Given the description of an element on the screen output the (x, y) to click on. 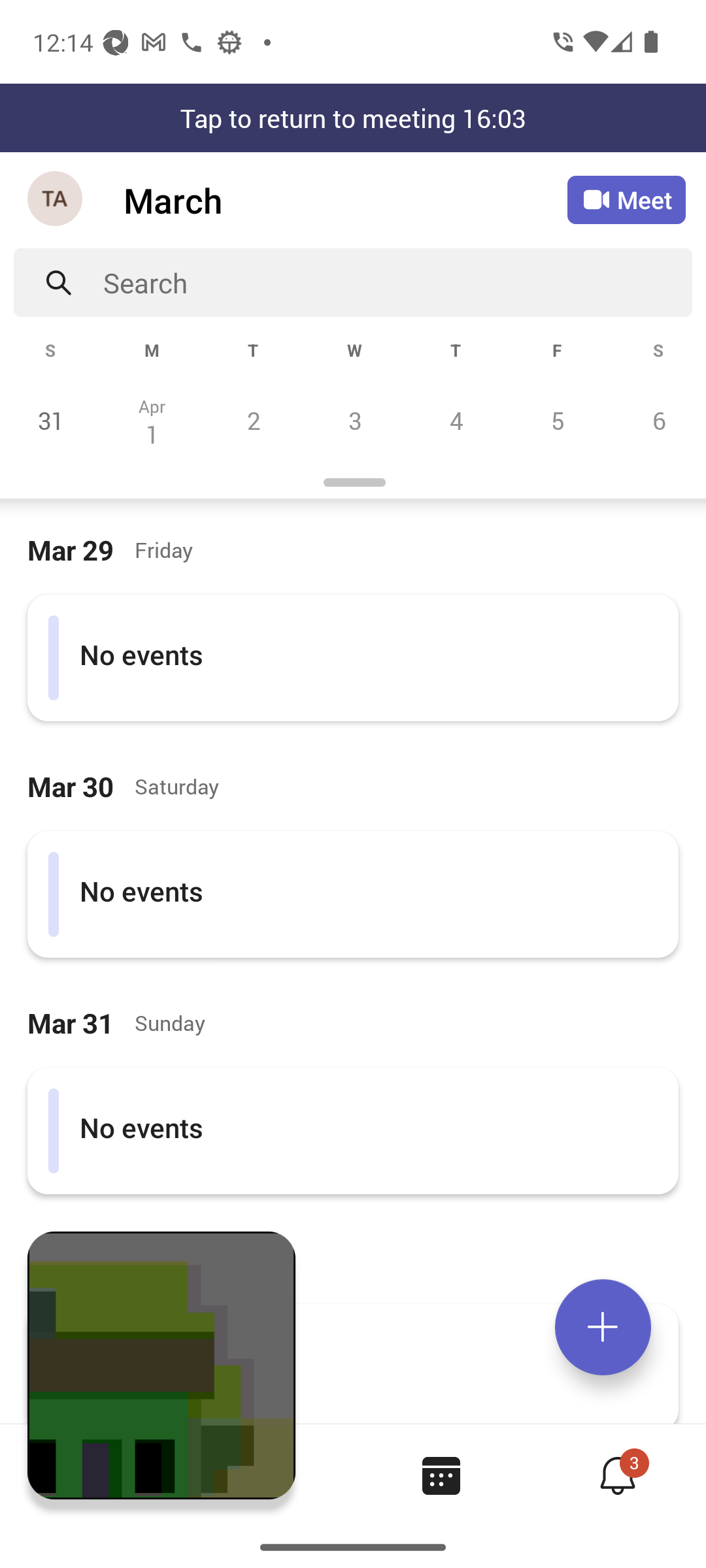
Tap to return to meeting 16:03 (353, 117)
Navigation (56, 199)
Meet Meet now or join with an ID (626, 199)
March March Calendar Agenda View (345, 199)
Search (397, 281)
Sunday, March 31 31 (50, 420)
Monday, April 1 Apr 1 (151, 420)
Tuesday, April 2 2 (253, 420)
Wednesday, April 3 3 (354, 420)
Thursday, April 4 4 (455, 420)
Friday, April 5 5 (556, 420)
Saturday, April 6 6 (656, 420)
Expand meetings menu (602, 1327)
Calendar tab, 3 of 4 (441, 1475)
Activity tab,4 of 4, not selected, 3 new 3 (617, 1475)
